Given the description of an element on the screen output the (x, y) to click on. 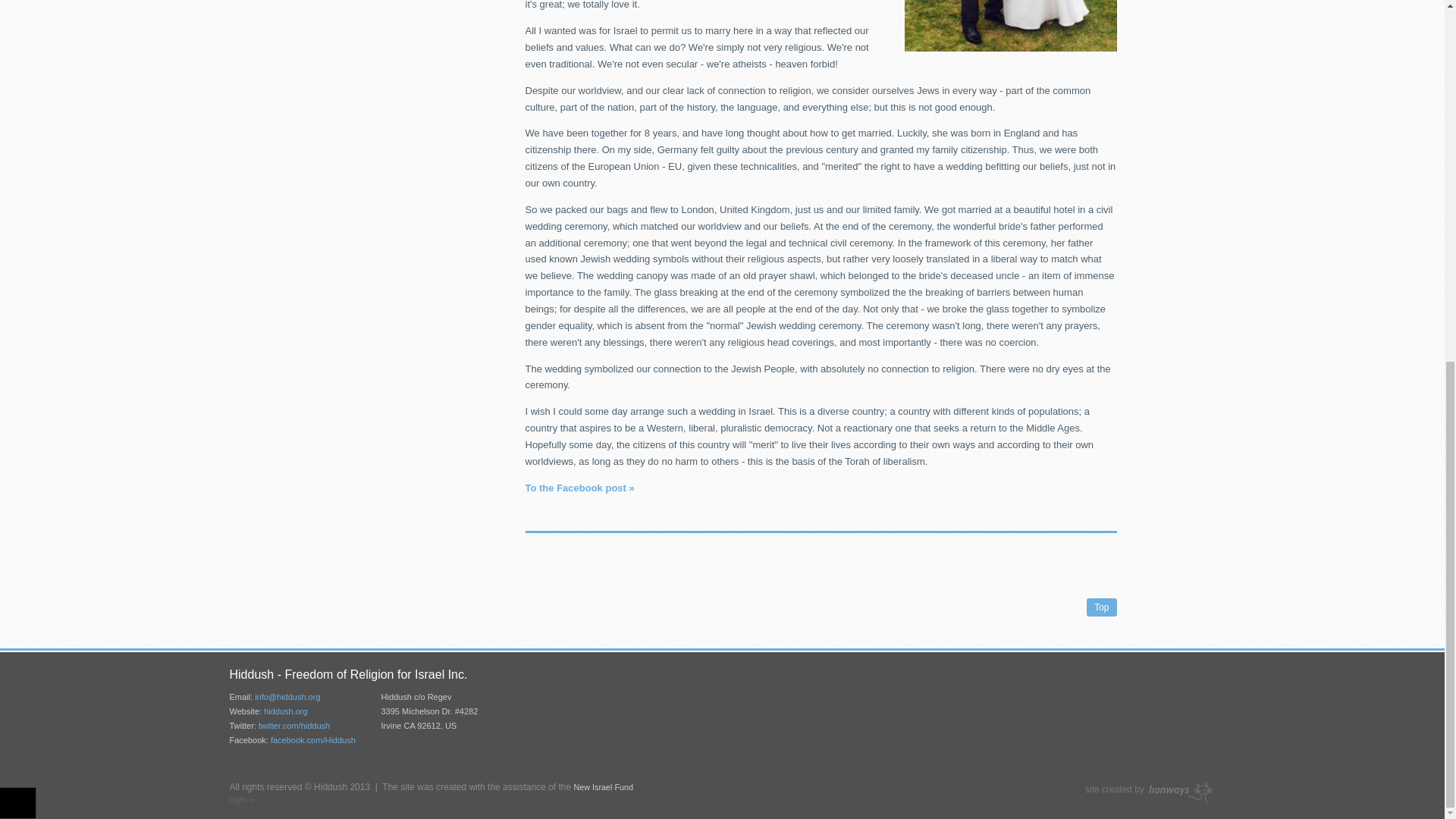
New Israel Fund (603, 786)
Top (1101, 607)
hiddush.org (285, 710)
